Given the description of an element on the screen output the (x, y) to click on. 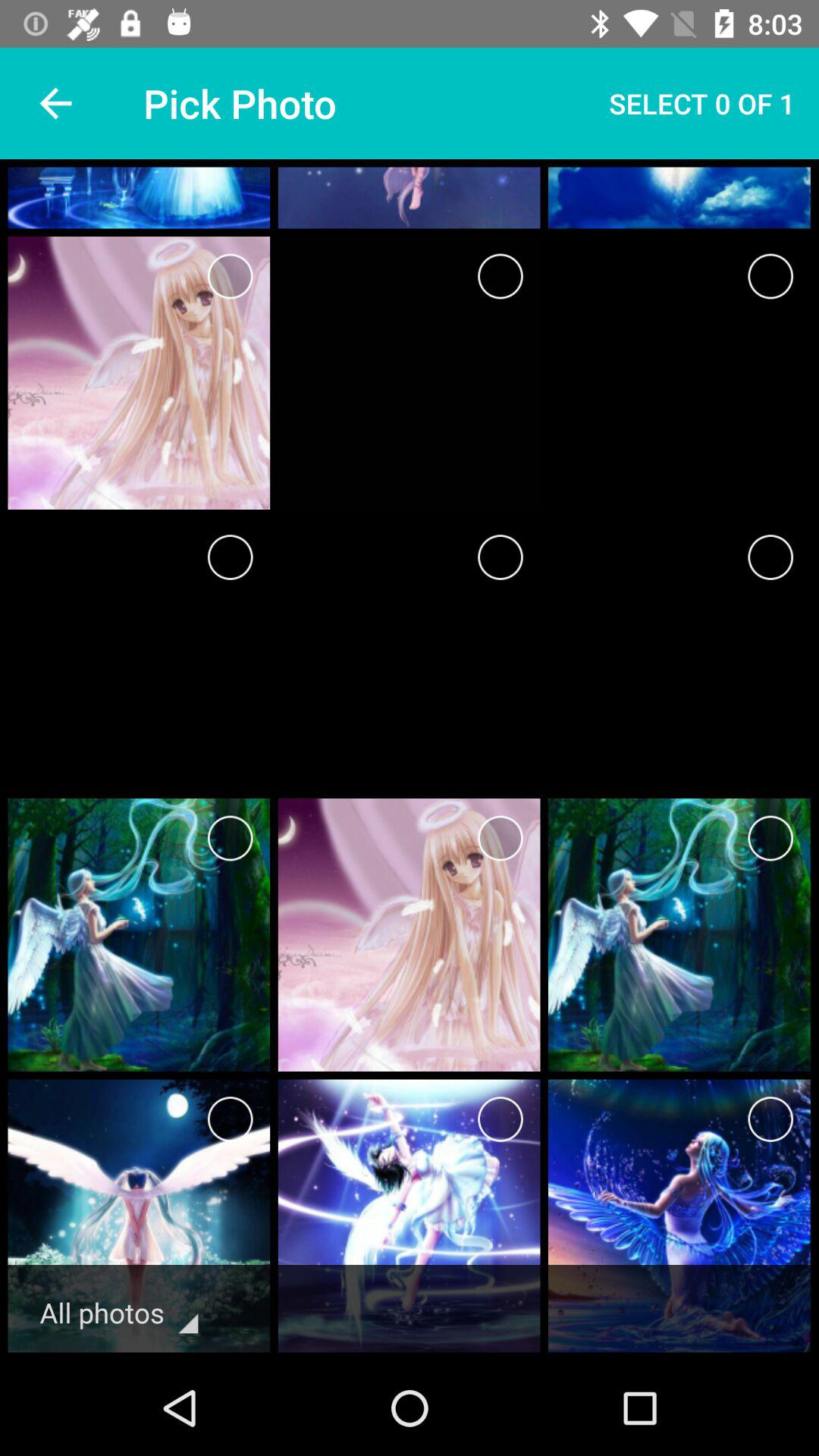
select image (770, 1119)
